Given the description of an element on the screen output the (x, y) to click on. 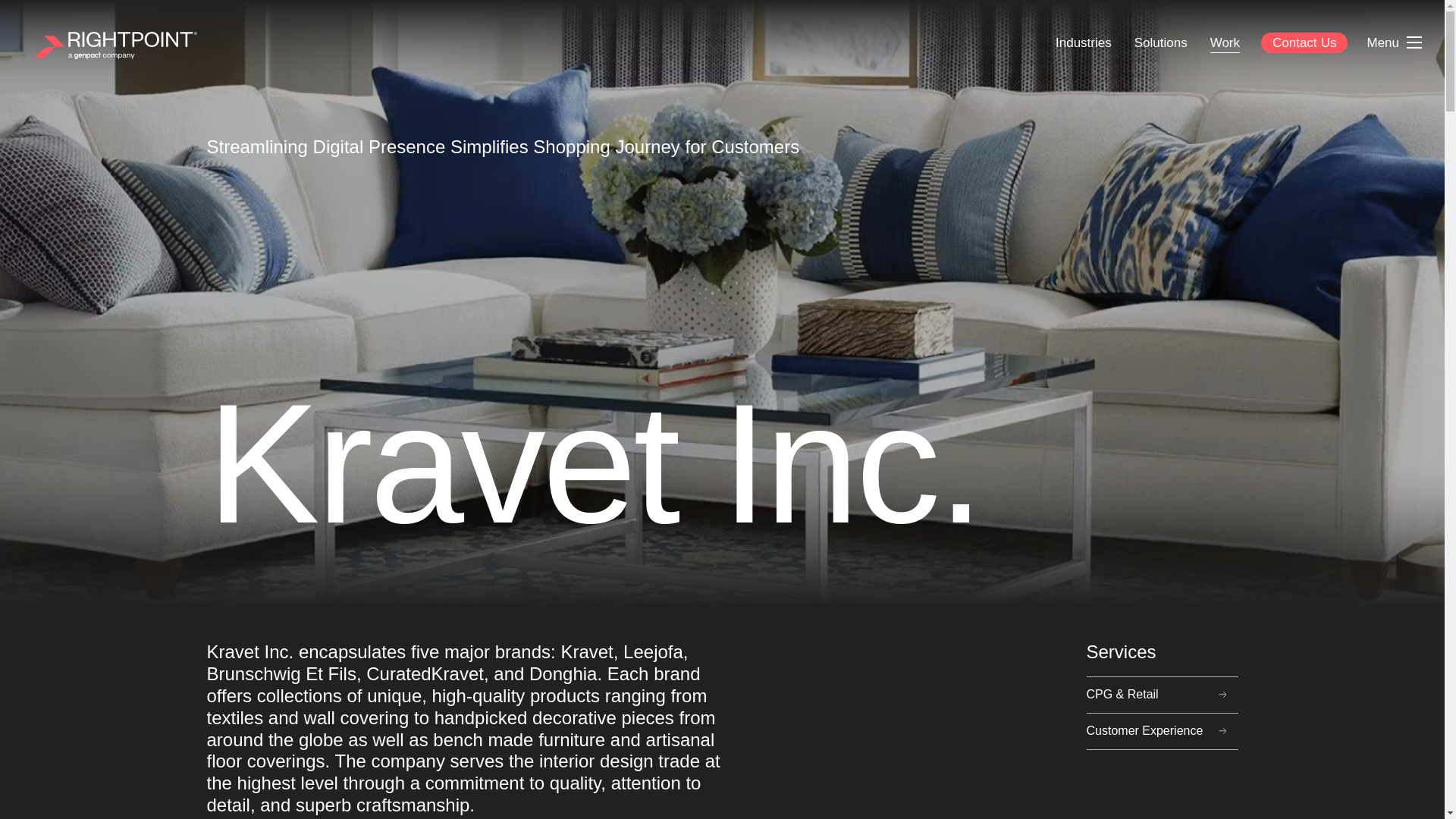
Work (1224, 42)
Menu (1385, 42)
Contact (1304, 42)
Menu (1394, 42)
Customer Experience (1161, 730)
Solutions (1160, 42)
Industries (1082, 42)
